Given the description of an element on the screen output the (x, y) to click on. 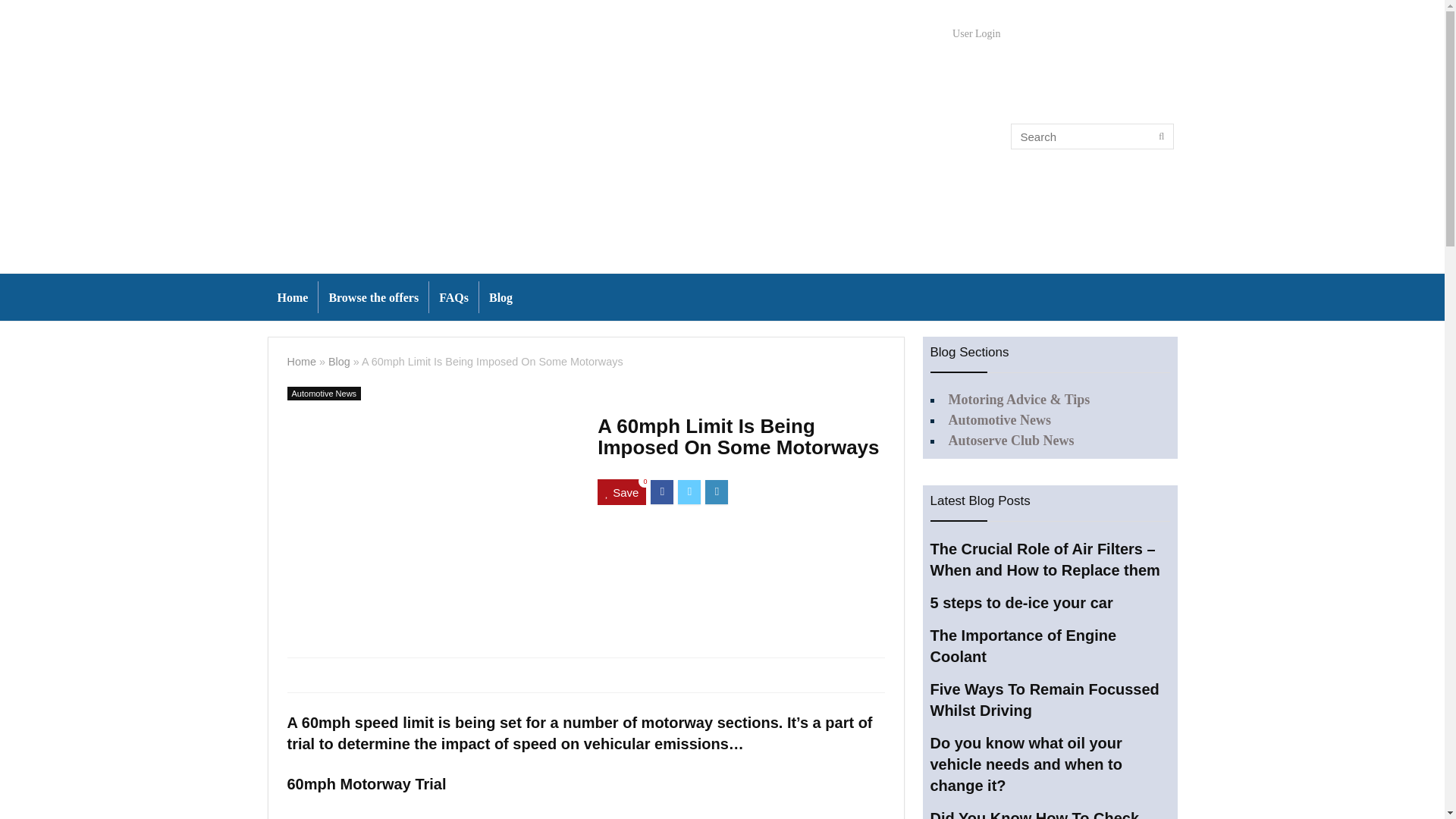
FAQs (454, 296)
5 steps to de-ice your car (1021, 602)
Home (291, 296)
Browse the offers (373, 296)
Home (300, 361)
Blog (500, 296)
Five Ways To Remain Focussed Whilst Driving (1044, 699)
The Importance of Engine Coolant (1023, 646)
Automotive News (323, 393)
Blog (339, 361)
